Given the description of an element on the screen output the (x, y) to click on. 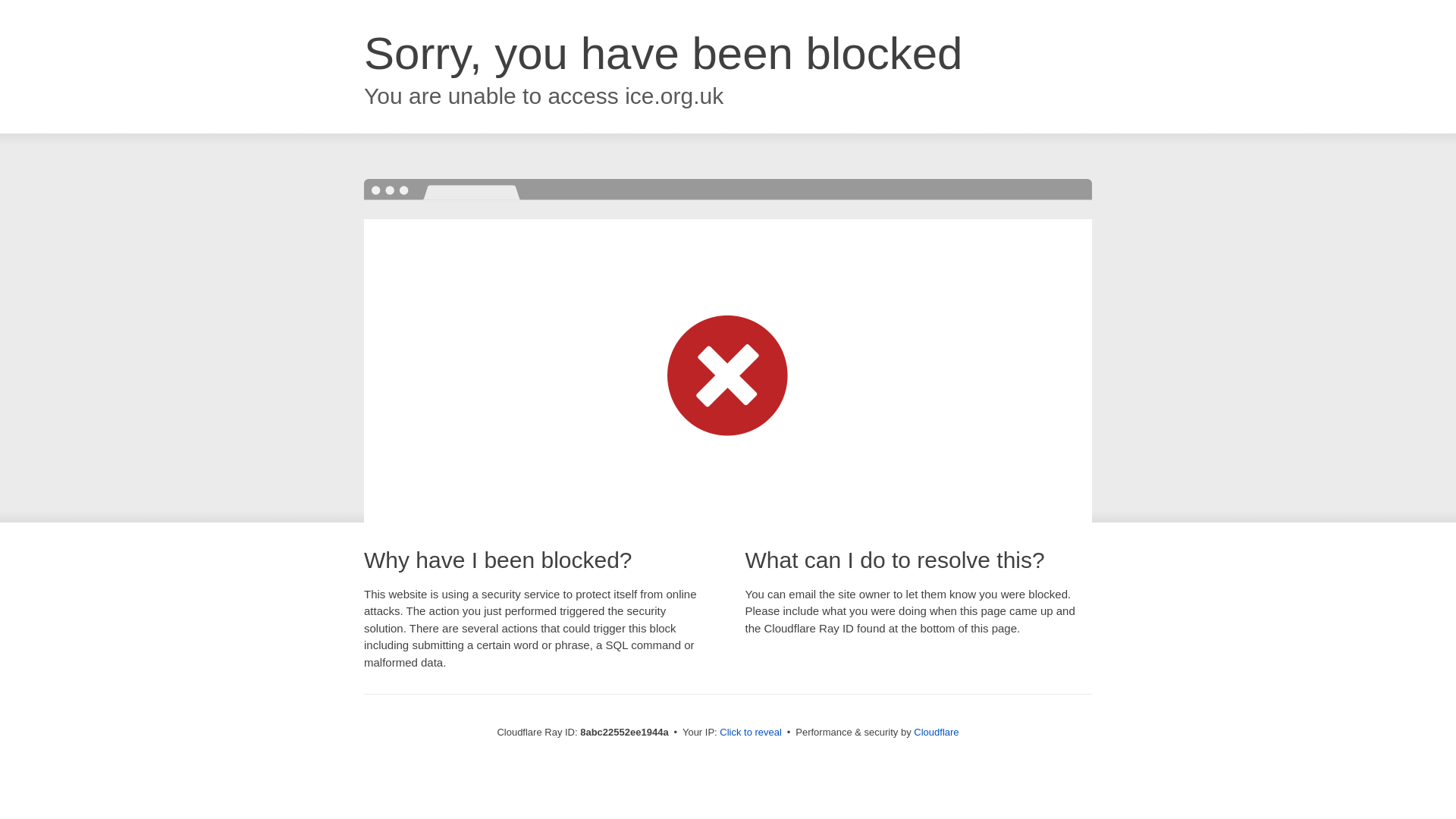
Click to reveal (750, 732)
Cloudflare (936, 731)
